Given the description of an element on the screen output the (x, y) to click on. 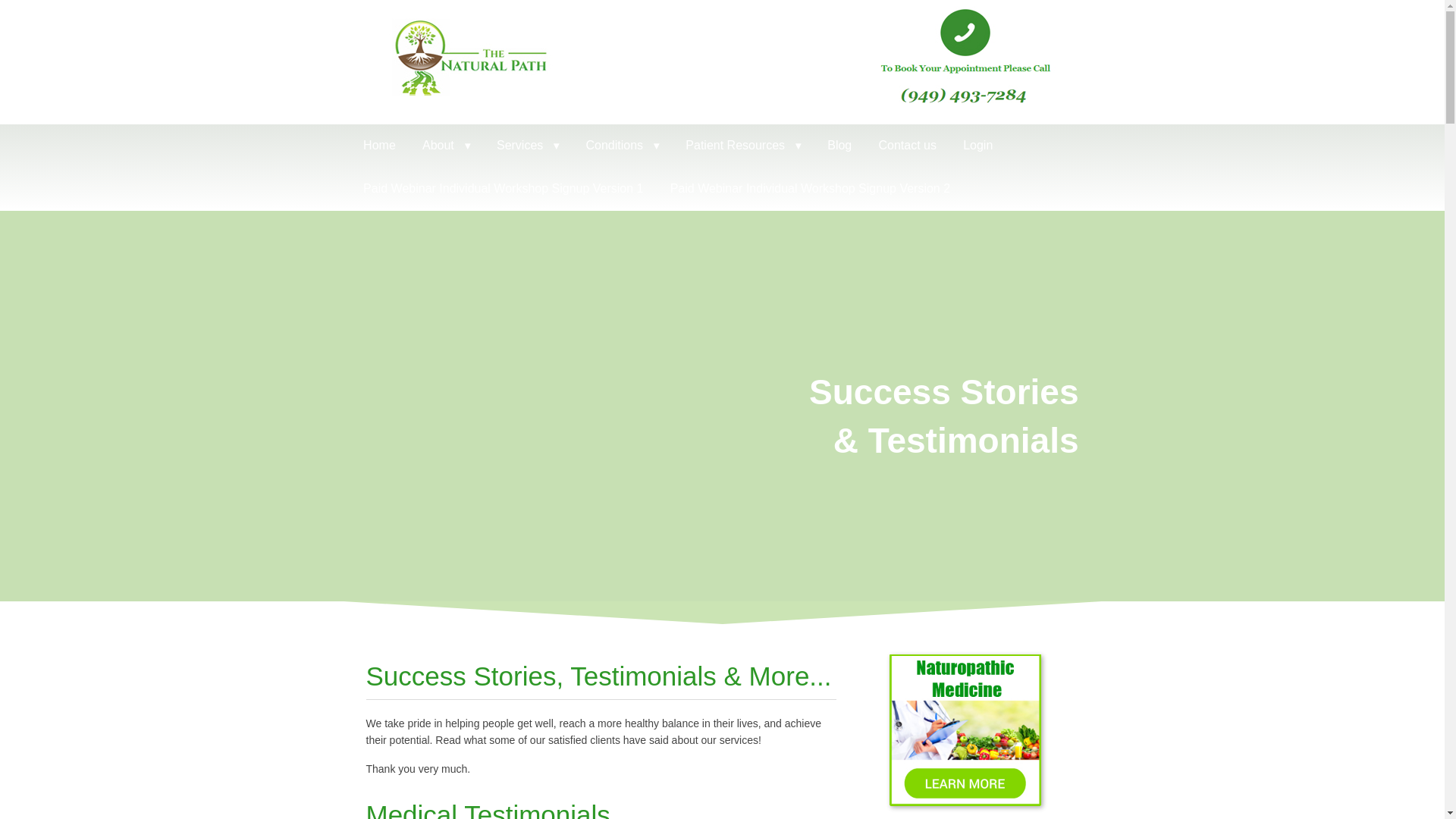
Contact us (907, 145)
Services (527, 145)
Login (978, 145)
Home (379, 145)
About (446, 145)
Patient Resources (742, 145)
Blog (838, 145)
Paid Webinar Individual Workshop Signup Version 1 (504, 188)
Conditions (622, 145)
Paid Webinar Individual Workshop Signup Version 2 (809, 188)
